Given the description of an element on the screen output the (x, y) to click on. 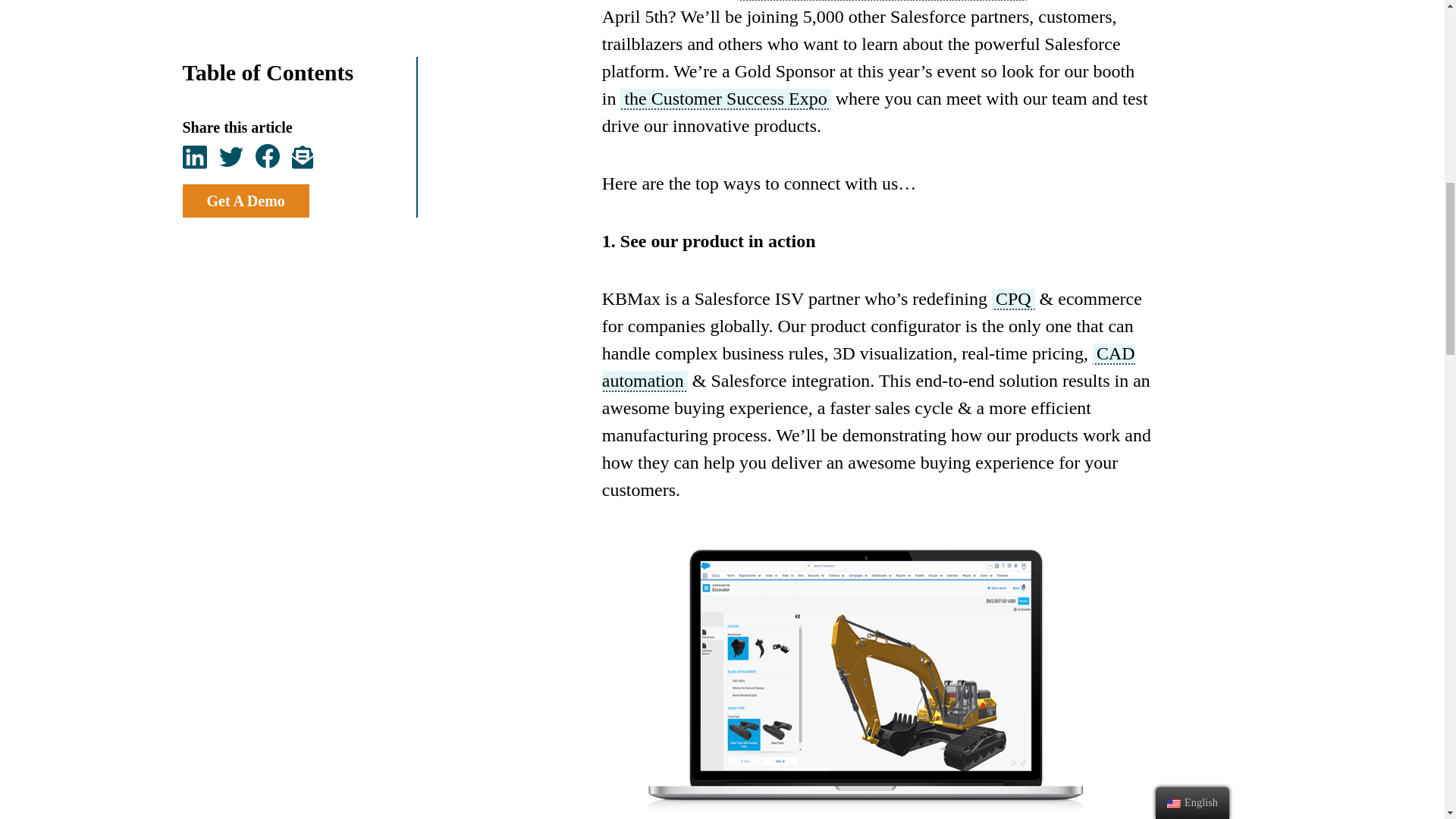
CPQ (1013, 299)
CAD automation (868, 367)
the Customer Success Expo (724, 98)
